Given the description of an element on the screen output the (x, y) to click on. 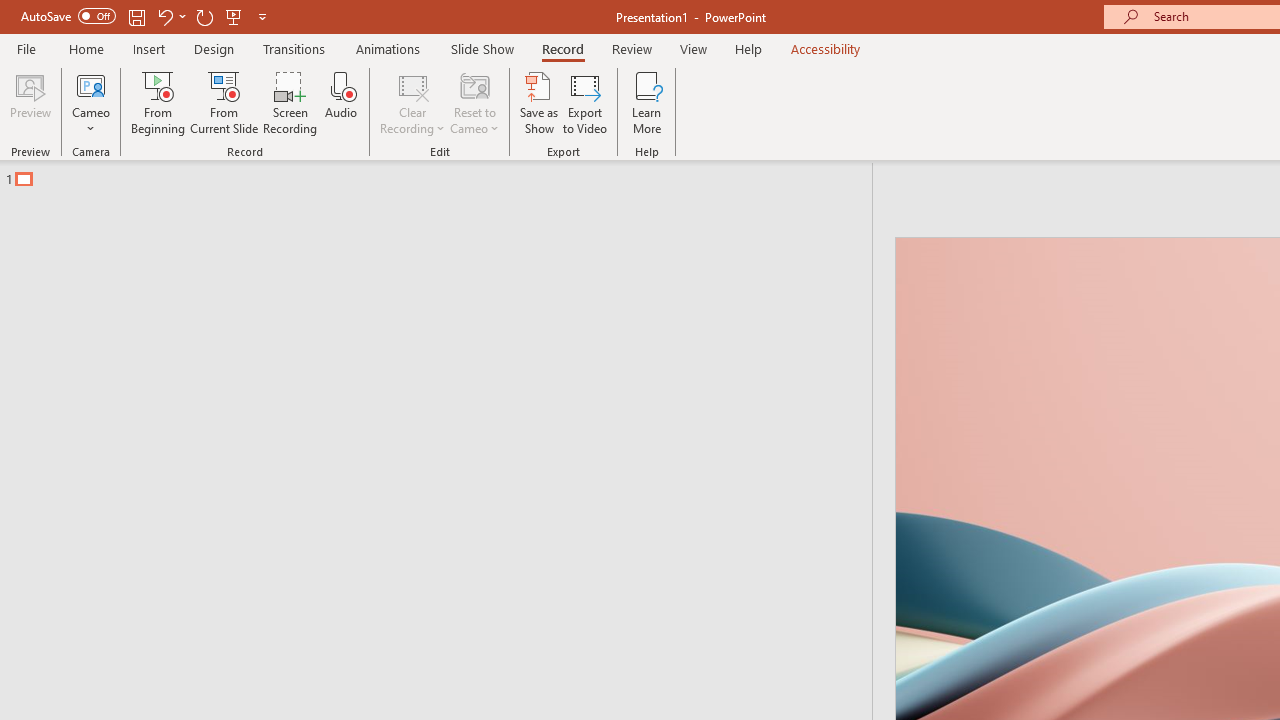
Audio (341, 102)
Export to Video (585, 102)
Learn More (646, 102)
